Given the description of an element on the screen output the (x, y) to click on. 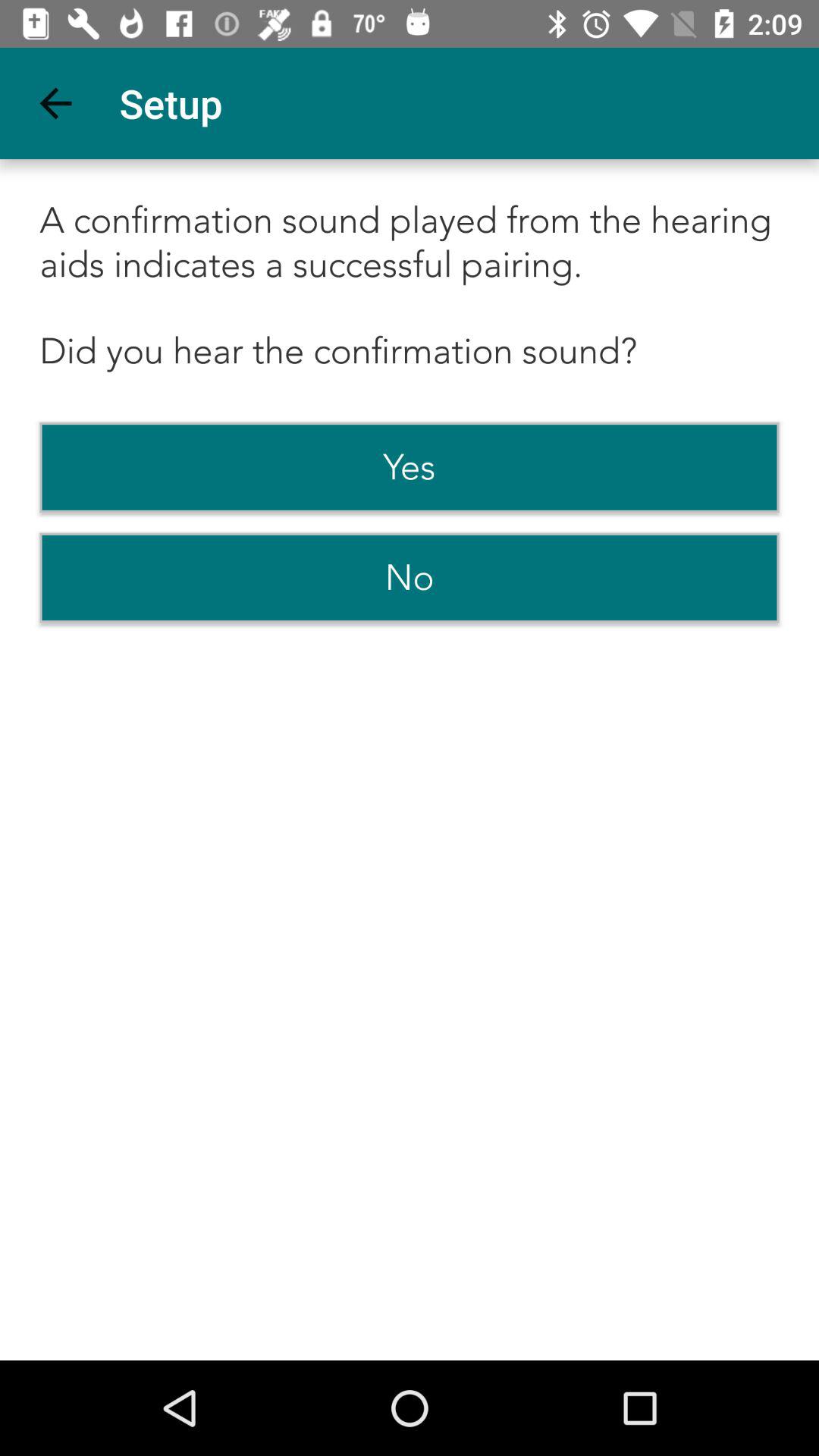
tap no item (409, 577)
